Given the description of an element on the screen output the (x, y) to click on. 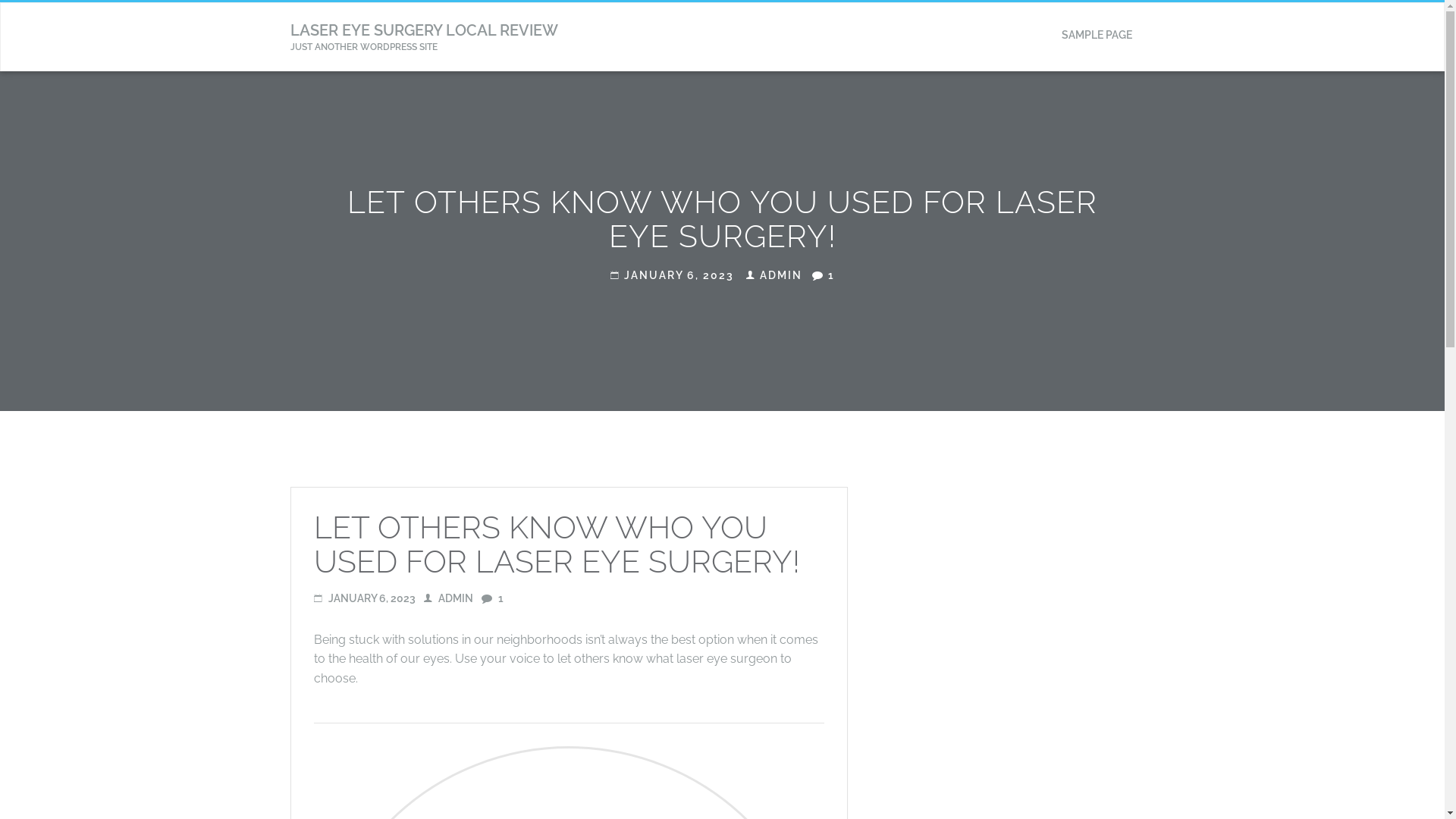
JANUARY 6, 2023 Element type: text (364, 598)
LASER EYE SURGERY LOCAL REVIEW
JUST ANOTHER WORDPRESS SITE Element type: text (424, 37)
ADMIN Element type: text (774, 275)
JANUARY 6, 2023 Element type: text (671, 275)
1 Element type: text (491, 598)
ADMIN Element type: text (447, 598)
Search  Element type: text (1079, 105)
1 Element type: text (822, 275)
SAMPLE PAGE Element type: text (1095, 34)
